Given the description of an element on the screen output the (x, y) to click on. 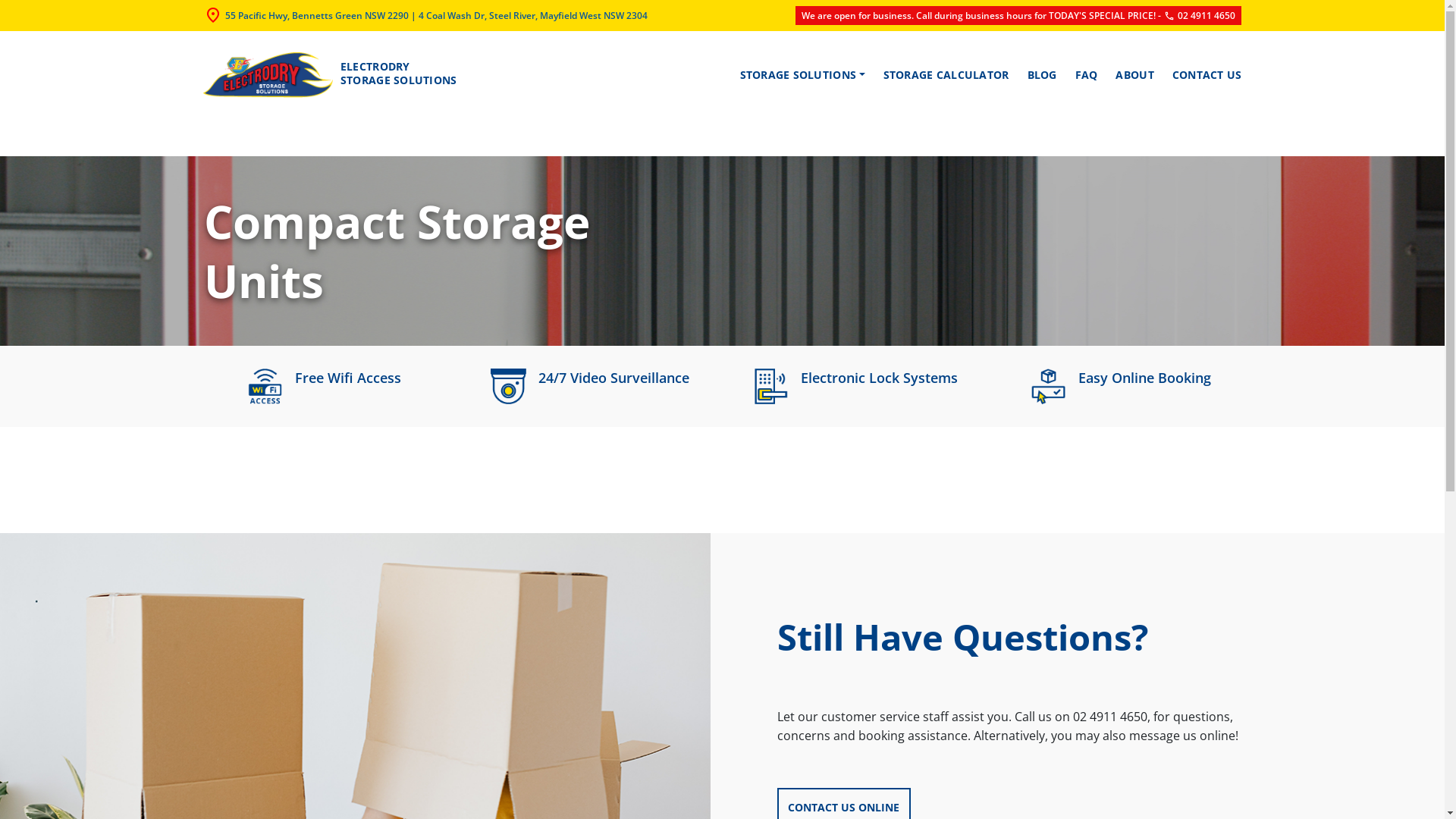
ABOUT Element type: text (1134, 74)
STORAGE CALCULATOR Element type: text (946, 74)
4 Coal Wash Dr, Steel River, Mayfield West NSW 2304 Element type: text (532, 15)
BLOG Element type: text (1042, 74)
STORAGE SOLUTIONS Element type: text (802, 74)
55 Pacific Hwy, Bennetts Green NSW 2290 Element type: text (315, 15)
CONTACT US Element type: text (1202, 74)
FAQ Element type: text (1086, 74)
